Given the description of an element on the screen output the (x, y) to click on. 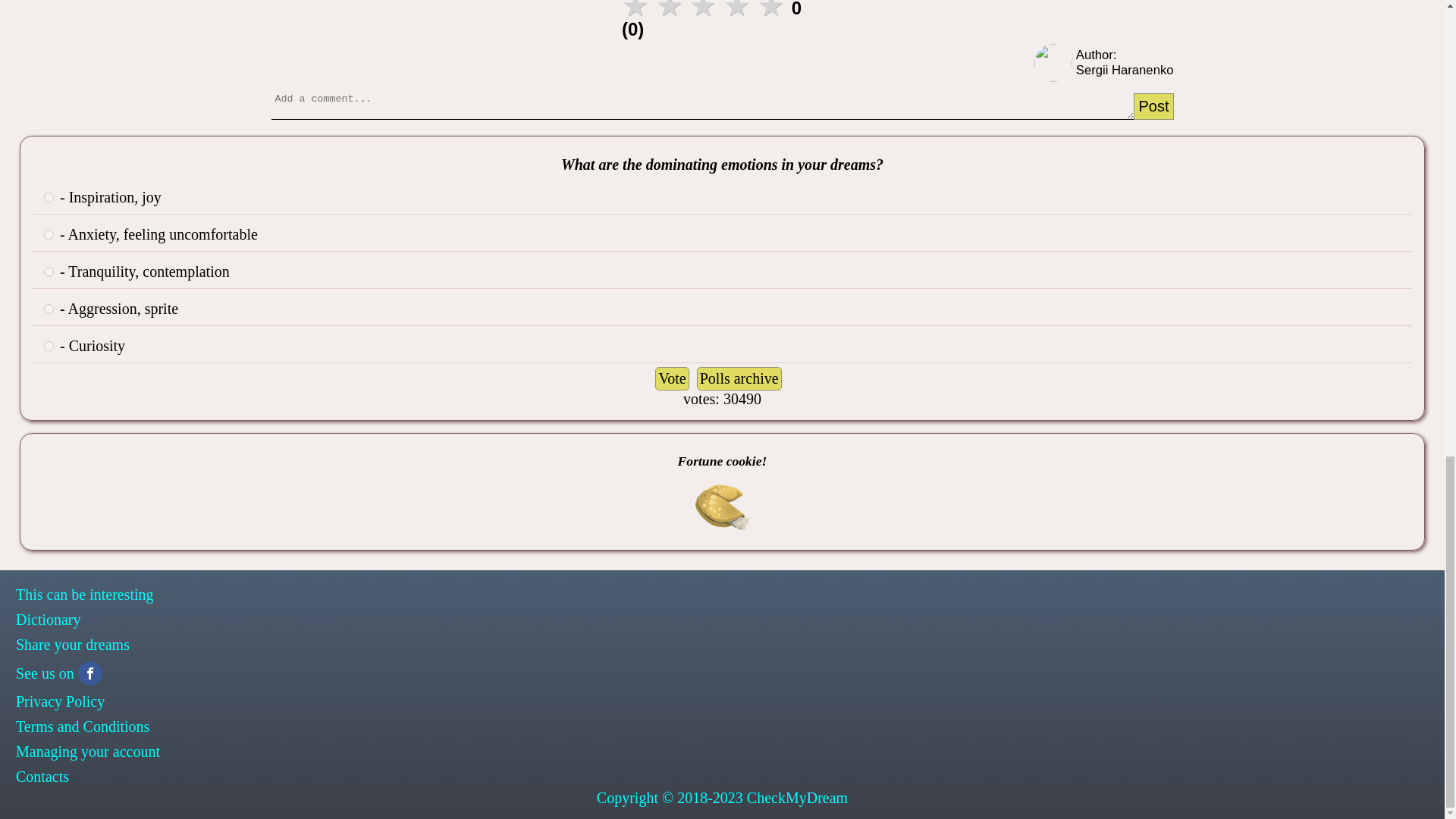
on (48, 346)
Polls archive (739, 378)
on (48, 234)
on (48, 308)
on (48, 197)
on (48, 271)
Dictionary (721, 619)
This can be interesting (721, 594)
